Given the description of an element on the screen output the (x, y) to click on. 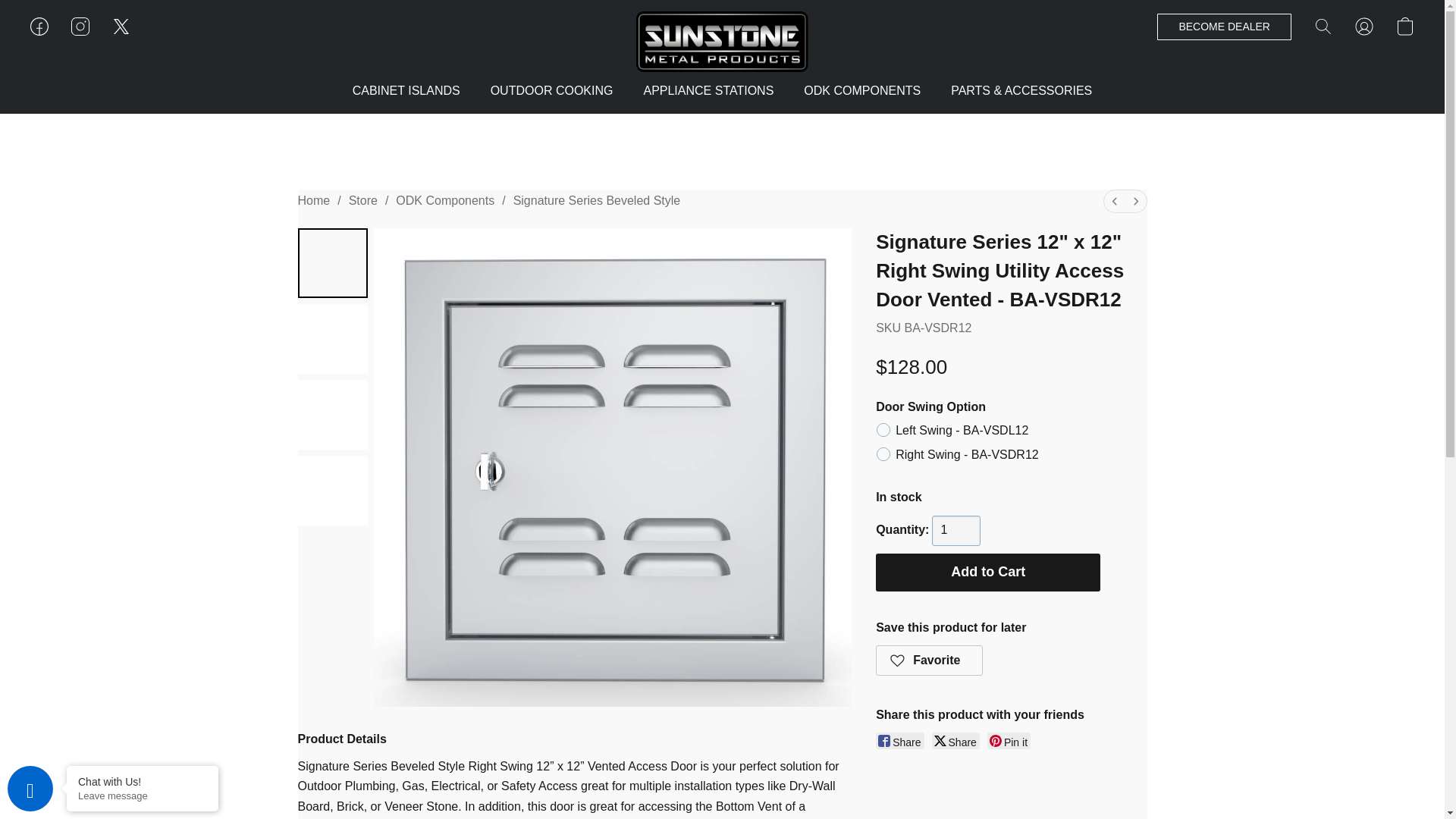
Go to your shopping cart (1404, 26)
Share (899, 740)
Signature Series Beveled Style (597, 200)
Favorite (929, 660)
Home (313, 200)
OUTDOOR COOKING (552, 90)
ODK Components (445, 200)
Search the website (1323, 26)
Store (363, 200)
Share (955, 740)
Leave message (142, 795)
Chat with Us! (142, 781)
Add to Cart (988, 572)
ODK COMPONENTS (862, 90)
